Given the description of an element on the screen output the (x, y) to click on. 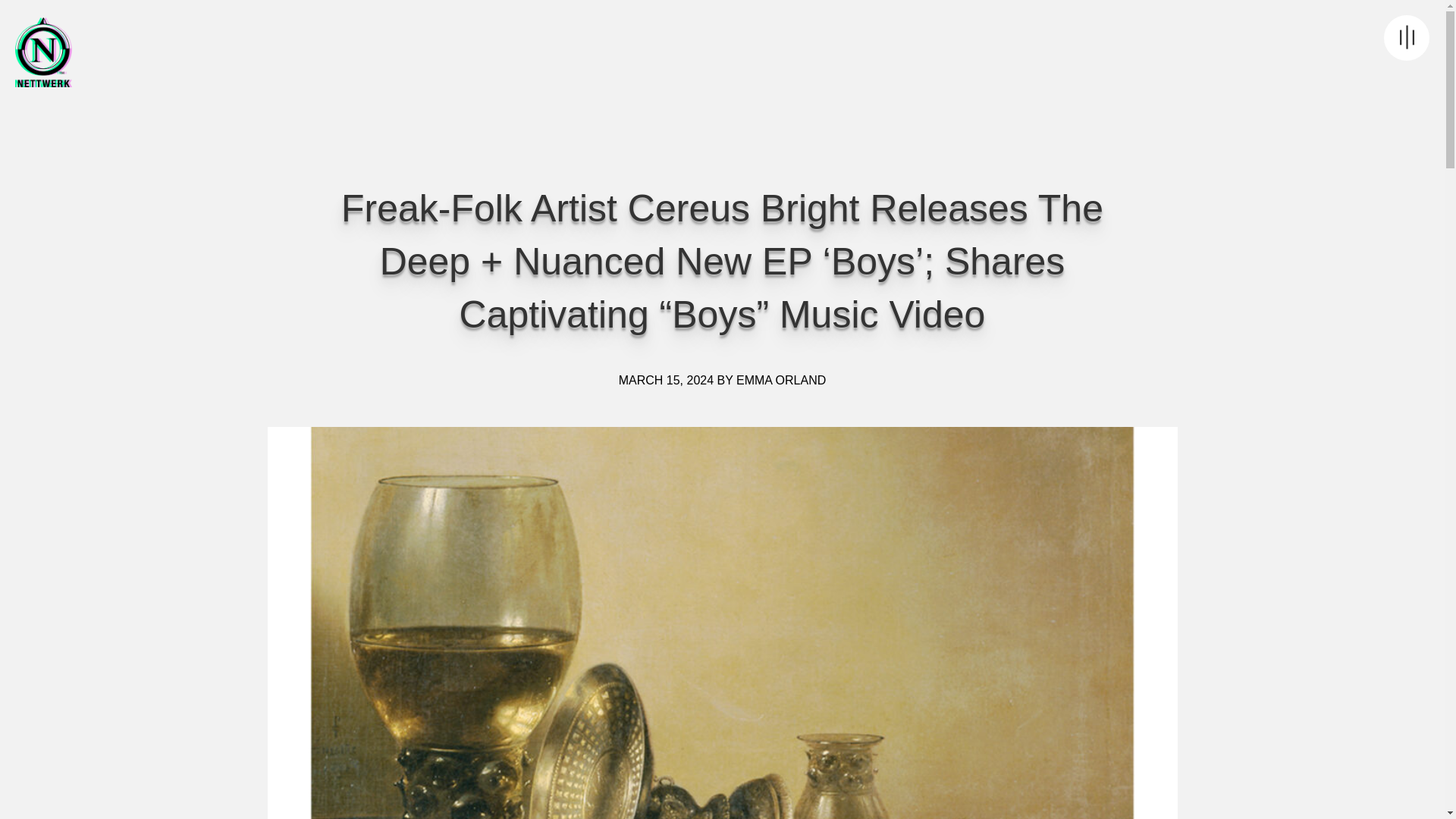
offcanv-menu-toggle-icon (1406, 37)
